Given the description of an element on the screen output the (x, y) to click on. 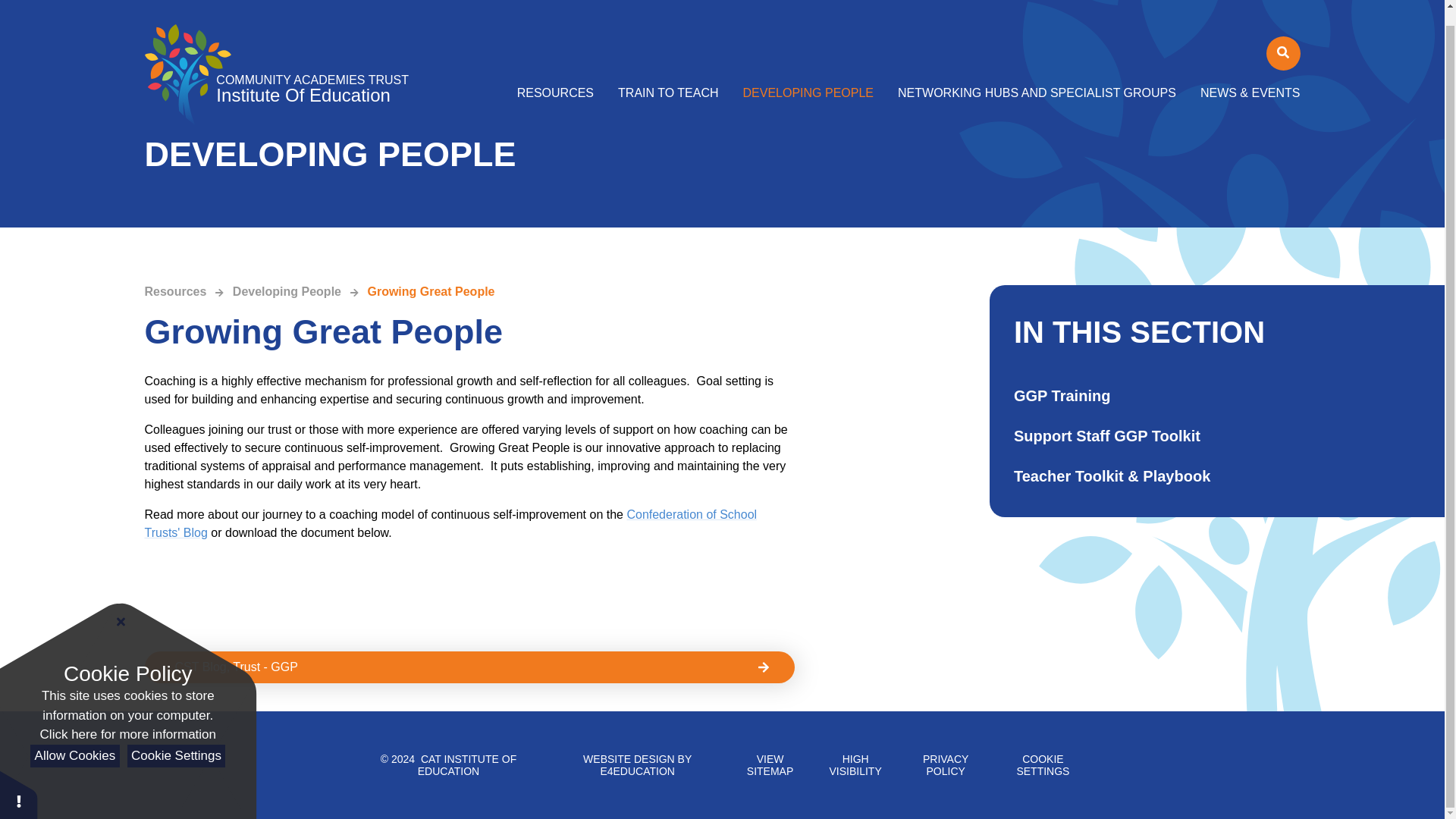
NETWORKING HUBS AND SPECIALIST GROUPS (1036, 76)
DEVELOPING PEOPLE (808, 76)
RESOURCES (560, 76)
TRAIN TO TEACH (667, 76)
